Given the description of an element on the screen output the (x, y) to click on. 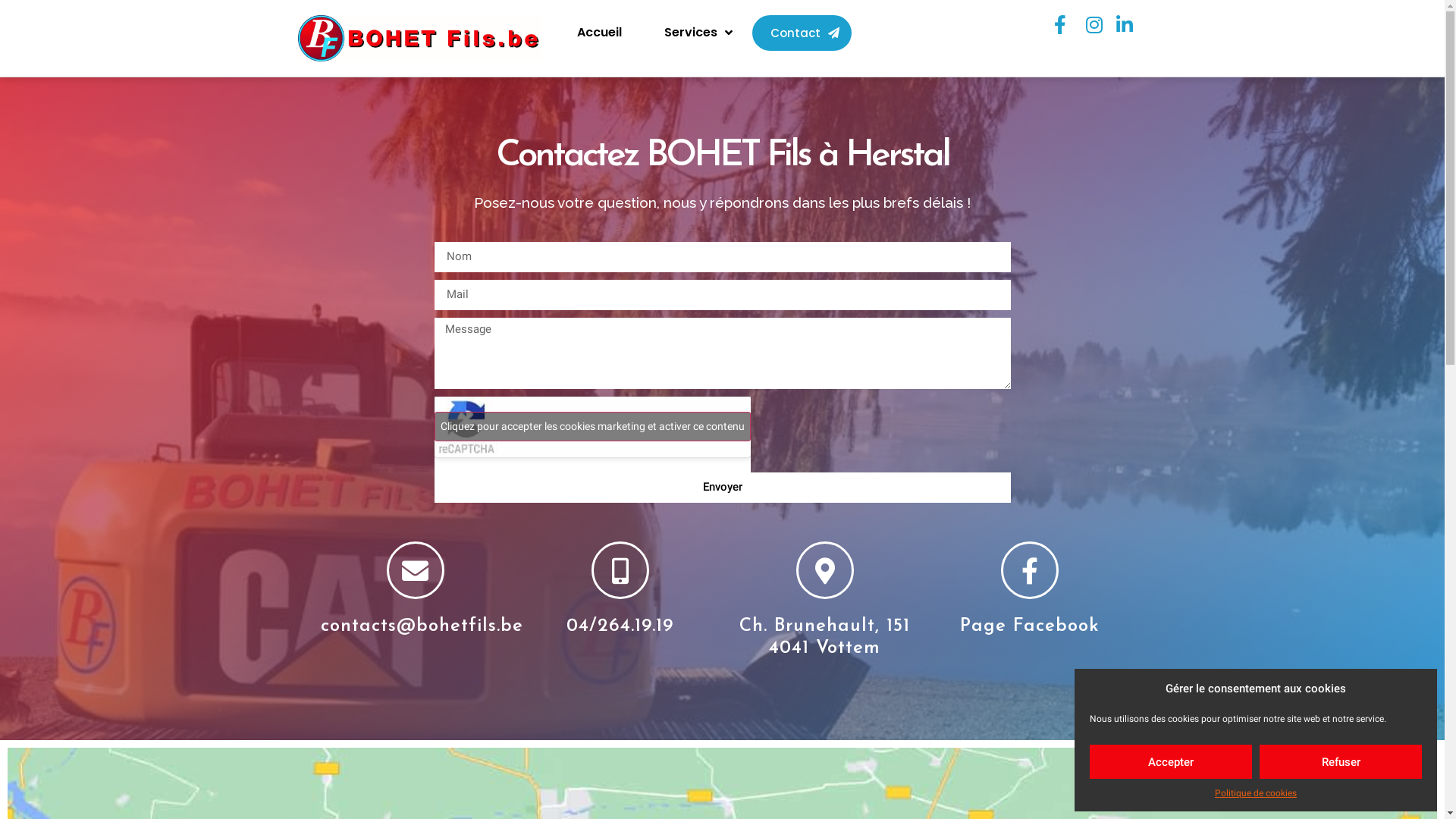
Accepter Element type: text (1170, 761)
contacts@bohetfils.be Element type: text (421, 626)
Ch. Brunehault, 151 4041 Vottem Element type: text (824, 637)
Contact Element type: text (801, 32)
Page Facebook Element type: text (1029, 626)
Politique de cookies Element type: text (1255, 793)
Envoyer Element type: text (721, 487)
Accueil Element type: text (598, 32)
Services Element type: text (698, 32)
04/264.19.19 Element type: text (619, 626)
Refuser Element type: text (1340, 761)
